Given the description of an element on the screen output the (x, y) to click on. 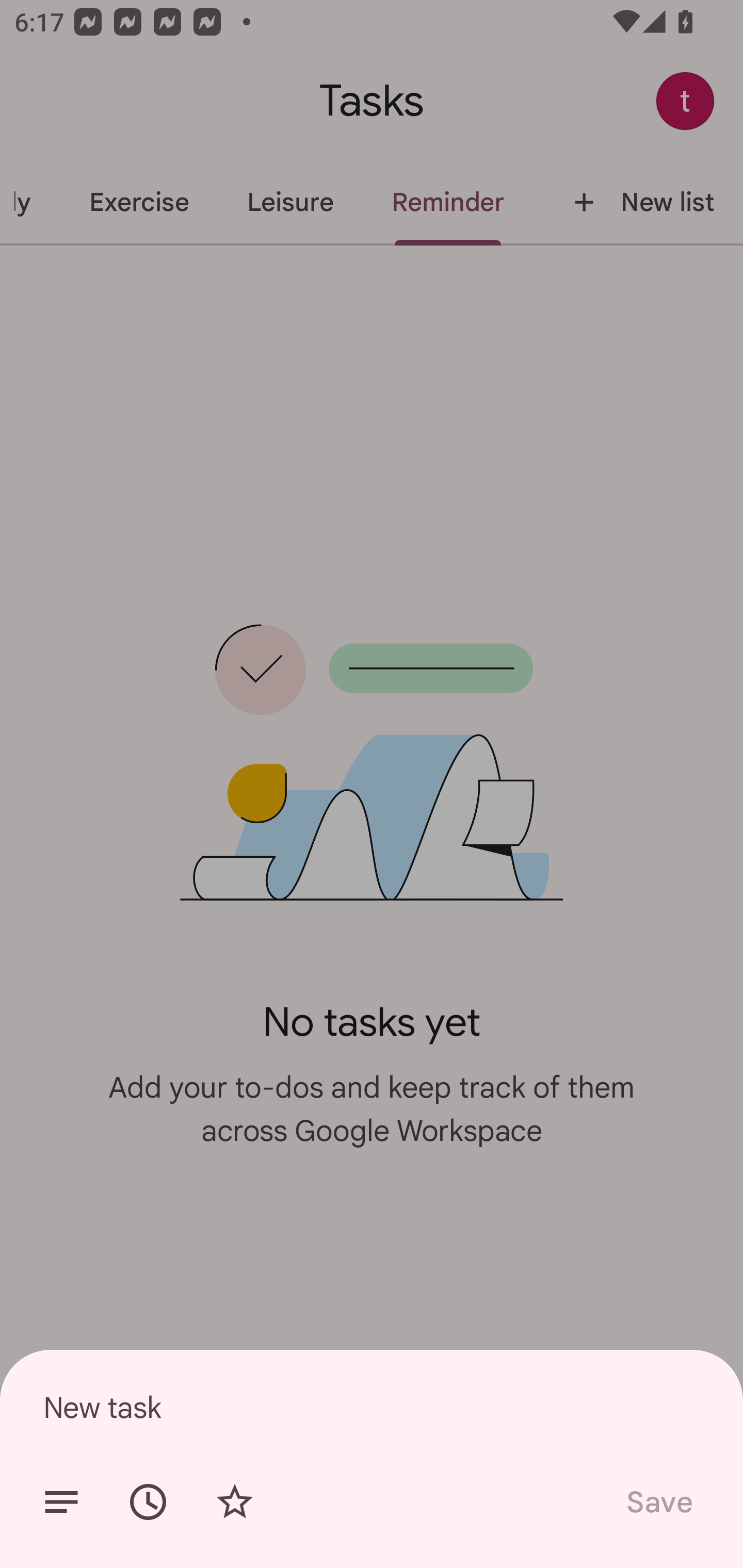
New task (371, 1407)
Save (659, 1501)
Add details (60, 1501)
Set date/time (147, 1501)
Add star (234, 1501)
